Given the description of an element on the screen output the (x, y) to click on. 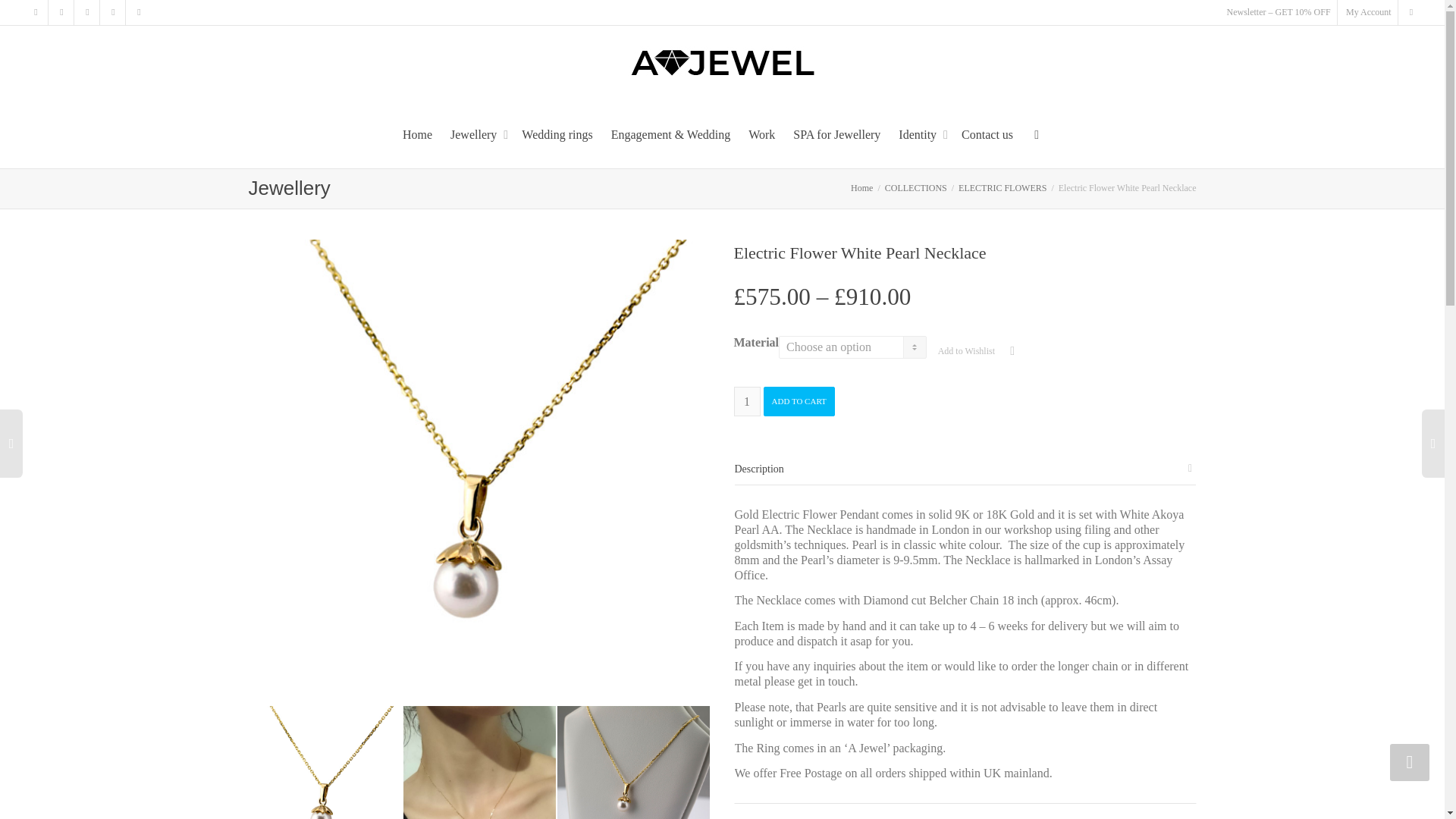
1 (746, 401)
My Account (1368, 12)
My Account (1368, 12)
SPA for Jewellery (836, 134)
A Jewel (721, 62)
Wedding rings (556, 134)
